Given the description of an element on the screen output the (x, y) to click on. 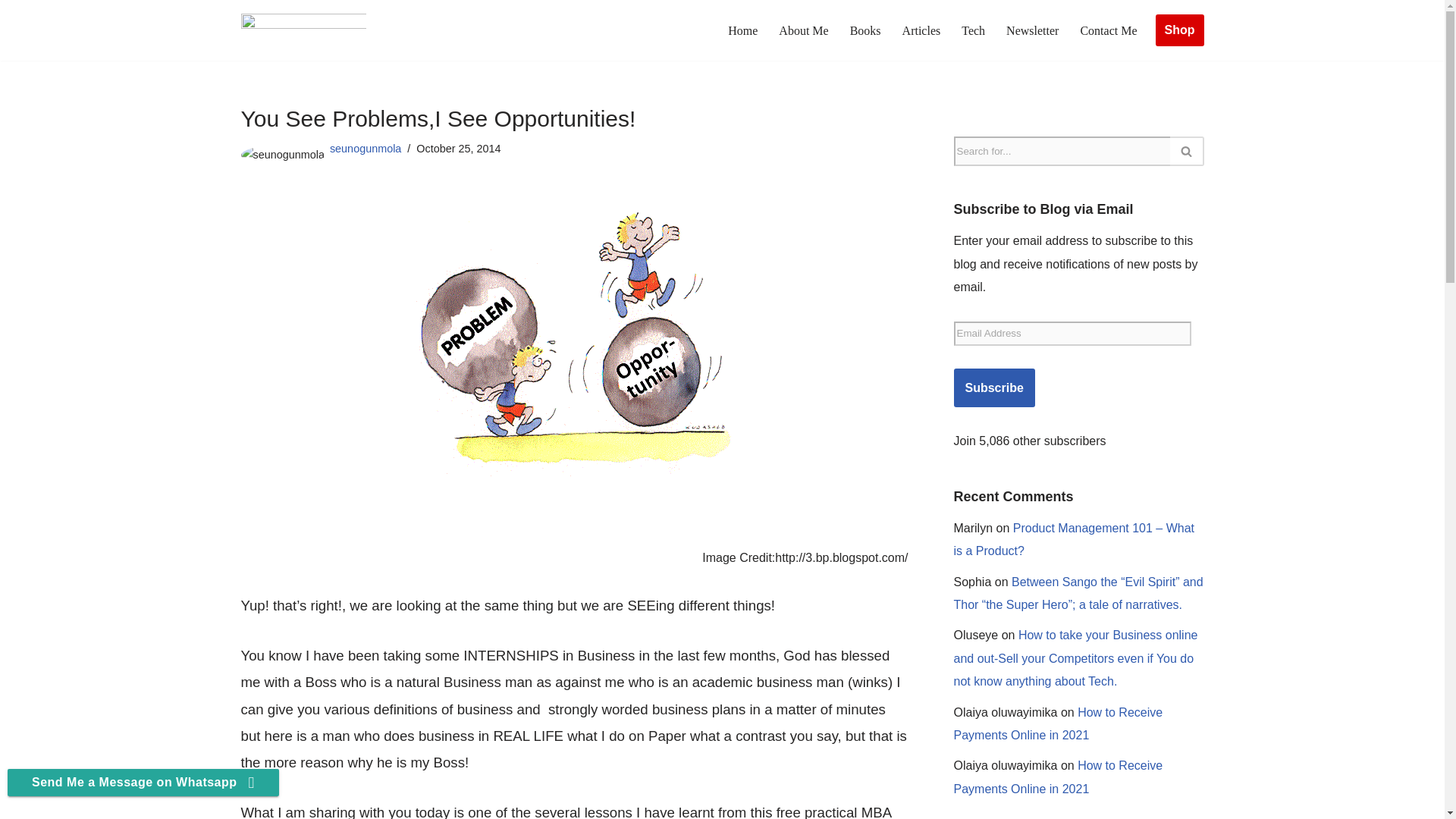
How to Receive Payments Online in 2021 (1058, 723)
seunogunmola (365, 148)
Shop (1180, 29)
Contact Me (1108, 30)
Subscribe (994, 387)
Books (865, 30)
Tech (972, 30)
Skip to content (11, 31)
About Me (803, 30)
Posts by seunogunmola (365, 148)
Home (742, 30)
Articles (921, 30)
Newsletter (1032, 30)
How to Receive Payments Online in 2021 (1058, 776)
